Given the description of an element on the screen output the (x, y) to click on. 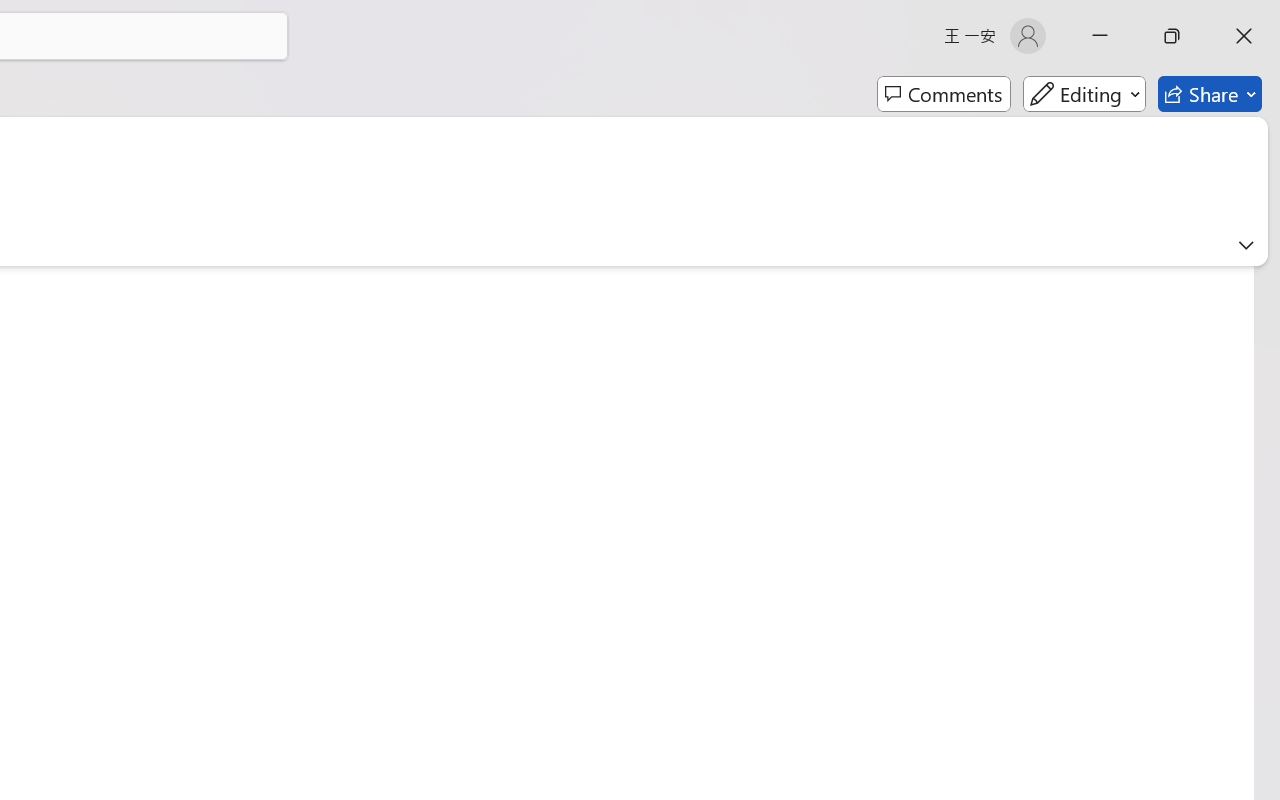
Ribbon Display Options (1246, 245)
Minimize (1099, 36)
Comments (943, 94)
Close (1244, 36)
Share (1210, 94)
Mode (1083, 94)
Restore Down (1172, 36)
